Given the description of an element on the screen output the (x, y) to click on. 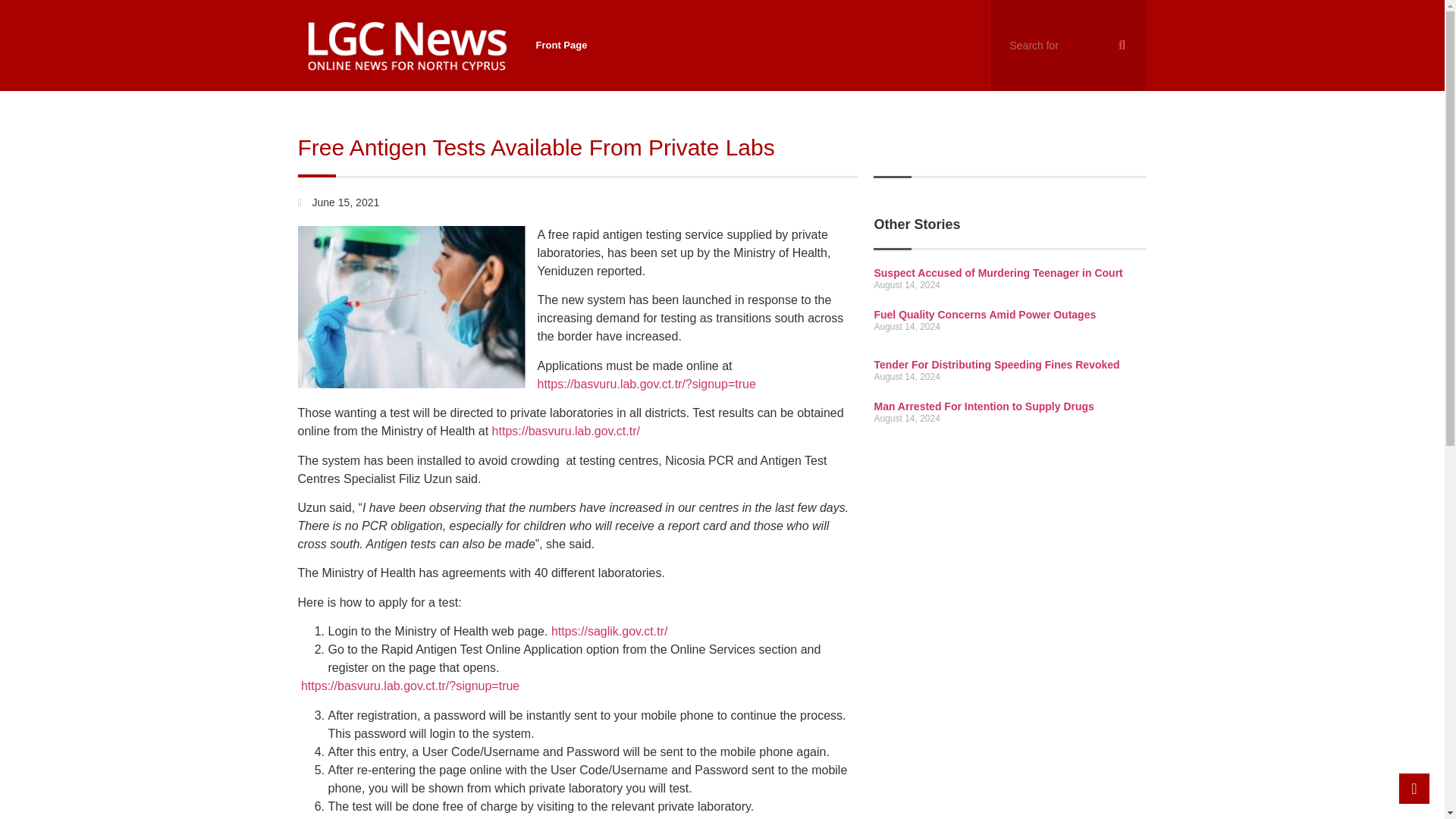
Fuel Quality Concerns Amid Power Outages (984, 314)
Suspect Accused of Murdering Teenager in Court (997, 272)
Tender For Distributing Speeding Fines Revoked (996, 364)
Man Arrested For Intention to Supply Drugs (983, 406)
June 15, 2021 (337, 202)
